Given the description of an element on the screen output the (x, y) to click on. 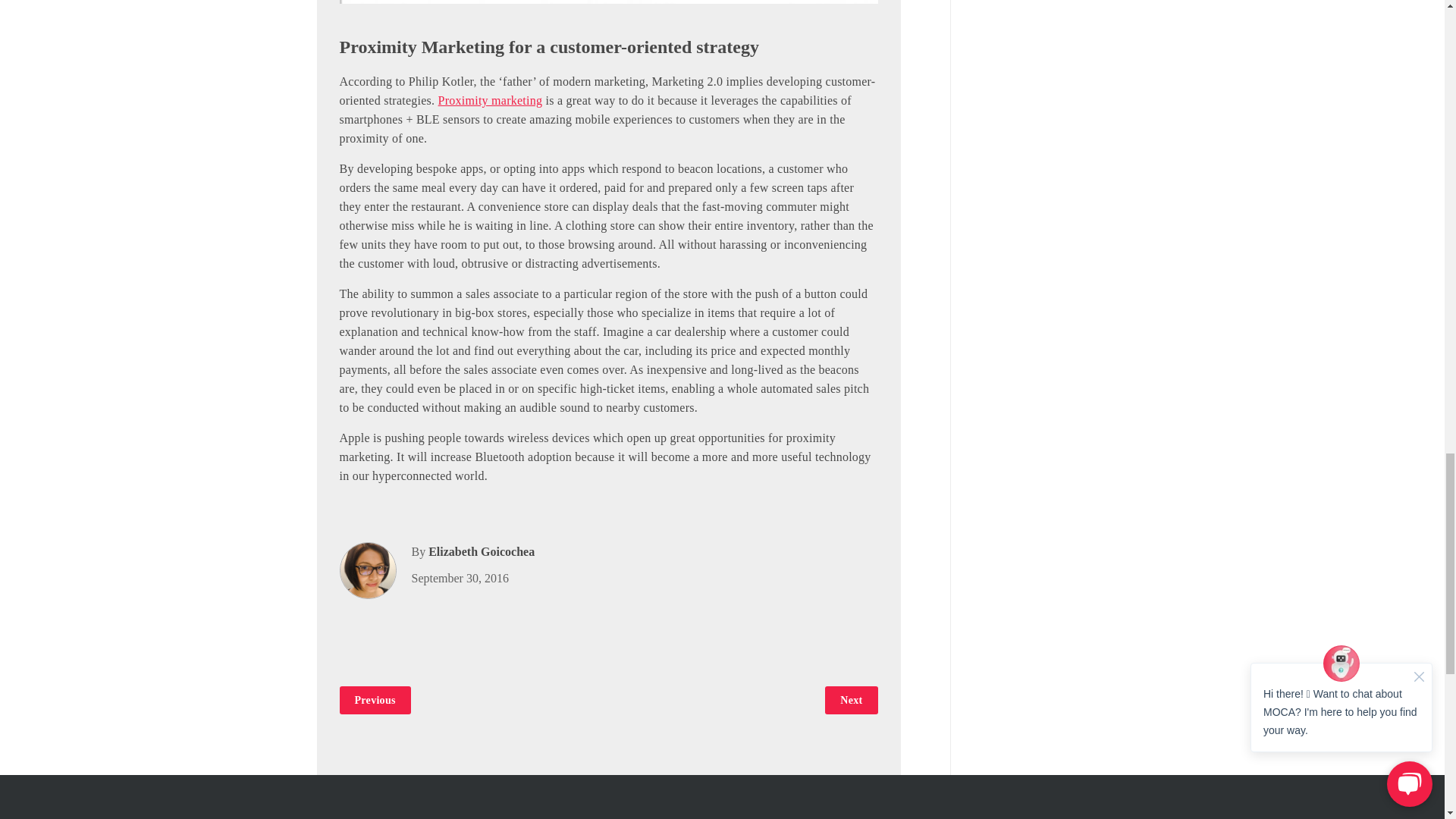
Next (851, 700)
Elizabeth Goicochea (481, 551)
Previous (374, 700)
Proximity marketing (490, 100)
